Given the description of an element on the screen output the (x, y) to click on. 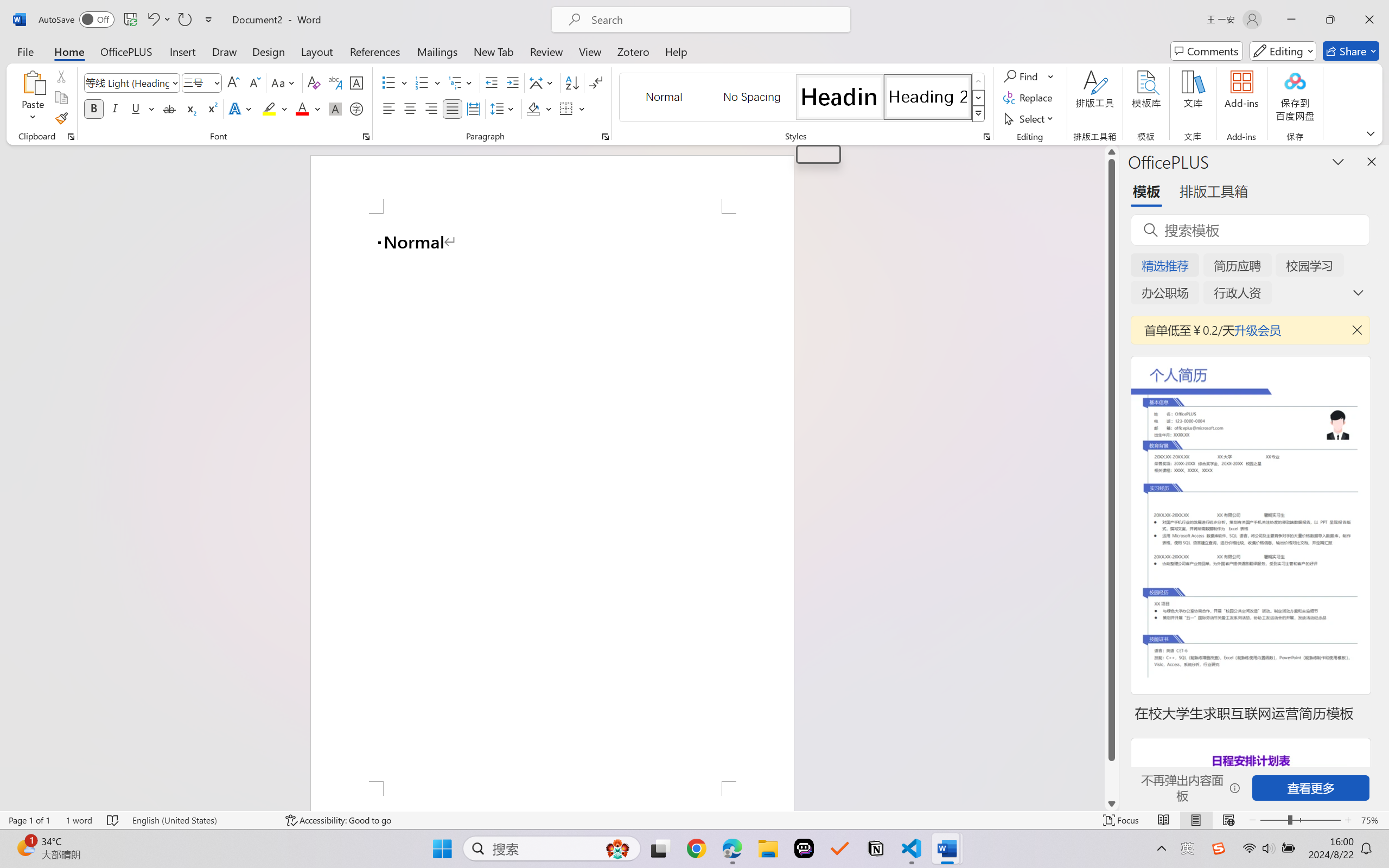
Help (675, 51)
More Options (1051, 75)
Underline (142, 108)
Row Down (978, 97)
Line up (1111, 151)
Subscript (190, 108)
Zoom (1300, 819)
Share (1350, 51)
Center (409, 108)
Class: NetUIImage (978, 114)
Font... (365, 136)
Line and Paragraph Spacing (503, 108)
Styles (978, 113)
New Tab (493, 51)
Character Border (356, 82)
